Given the description of an element on the screen output the (x, y) to click on. 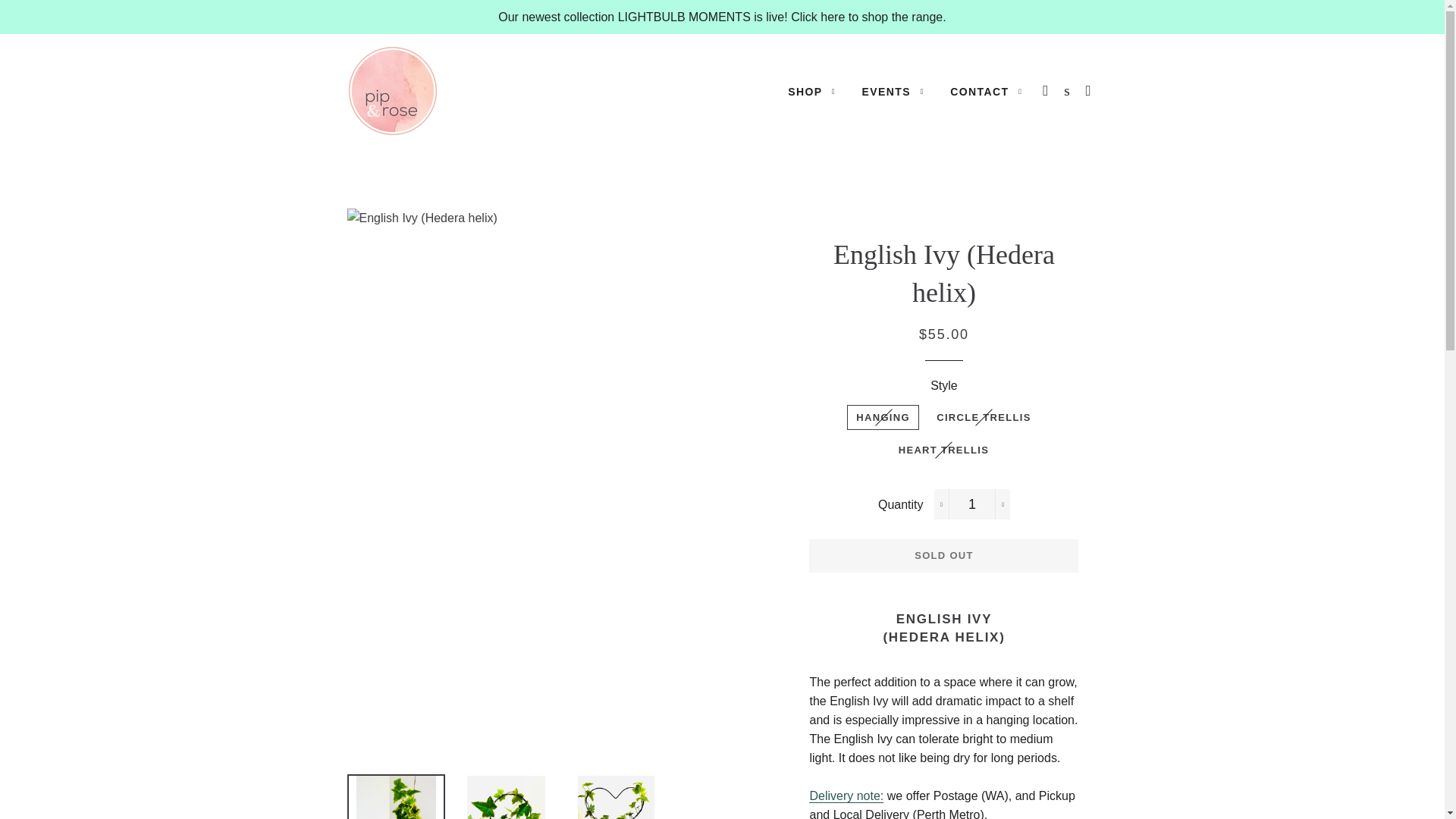
Delivery Information (846, 796)
1 (972, 503)
